Given the description of an element on the screen output the (x, y) to click on. 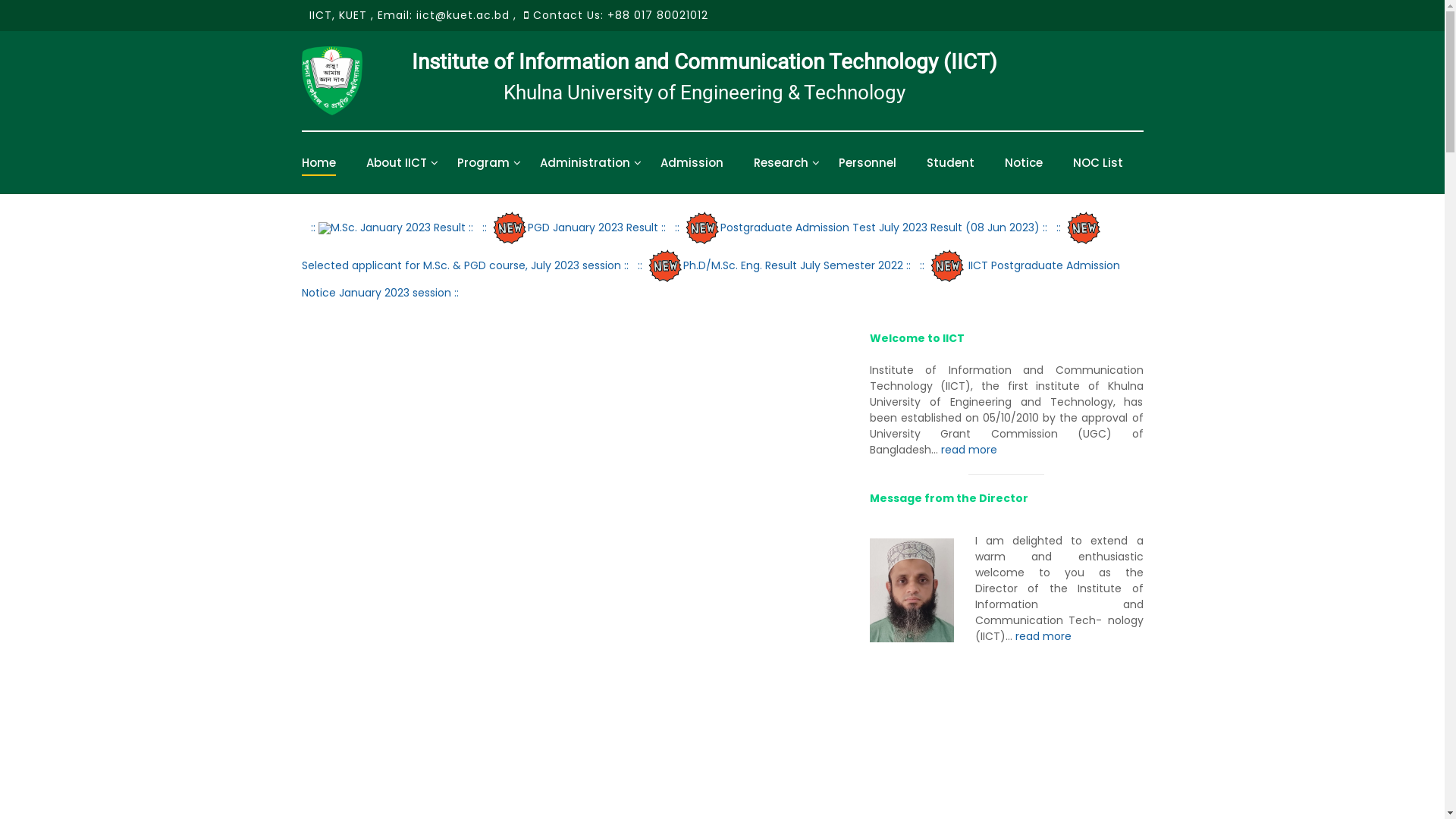
Admission Element type: text (690, 162)
Administration Element type: text (584, 162)
:: M.Sc. January 2023 Result :: Element type: text (391, 227)
Student Element type: text (950, 162)
Research Element type: text (780, 162)
:: PGD January 2023 Result :: Element type: text (573, 227)
Personnel Element type: text (867, 162)
IICT Element type: text (320, 14)
Home Element type: text (318, 162)
KUET Element type: text (352, 14)
Institute of Information and Communication Technology (IICT) Element type: text (704, 61)
NOC List Element type: text (1097, 162)
read more Element type: text (967, 449)
:: Ph.D/M.Sc. Eng. Result July Semester 2022 :: Element type: text (773, 265)
Notice Element type: text (1022, 162)
About IICT Element type: text (395, 162)
Program Element type: text (482, 162)
read more Element type: text (1043, 635)
